Given the description of an element on the screen output the (x, y) to click on. 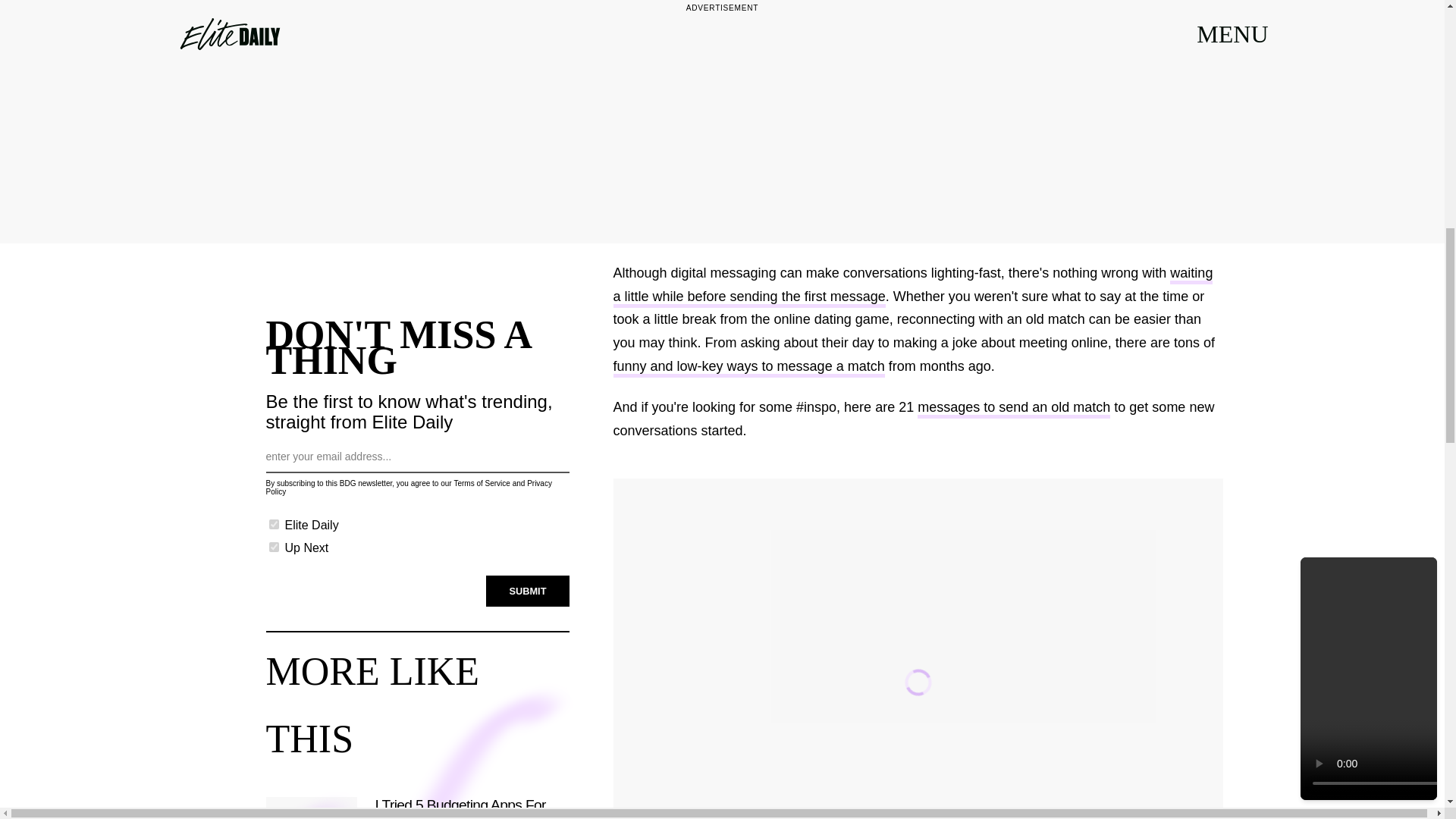
funny and low-key ways to message a match (747, 367)
Terms of Service (480, 483)
messages to send an old match (1013, 408)
Privacy Policy (407, 487)
waiting a little while before sending the first message (912, 286)
SUBMIT (527, 591)
